Given the description of an element on the screen output the (x, y) to click on. 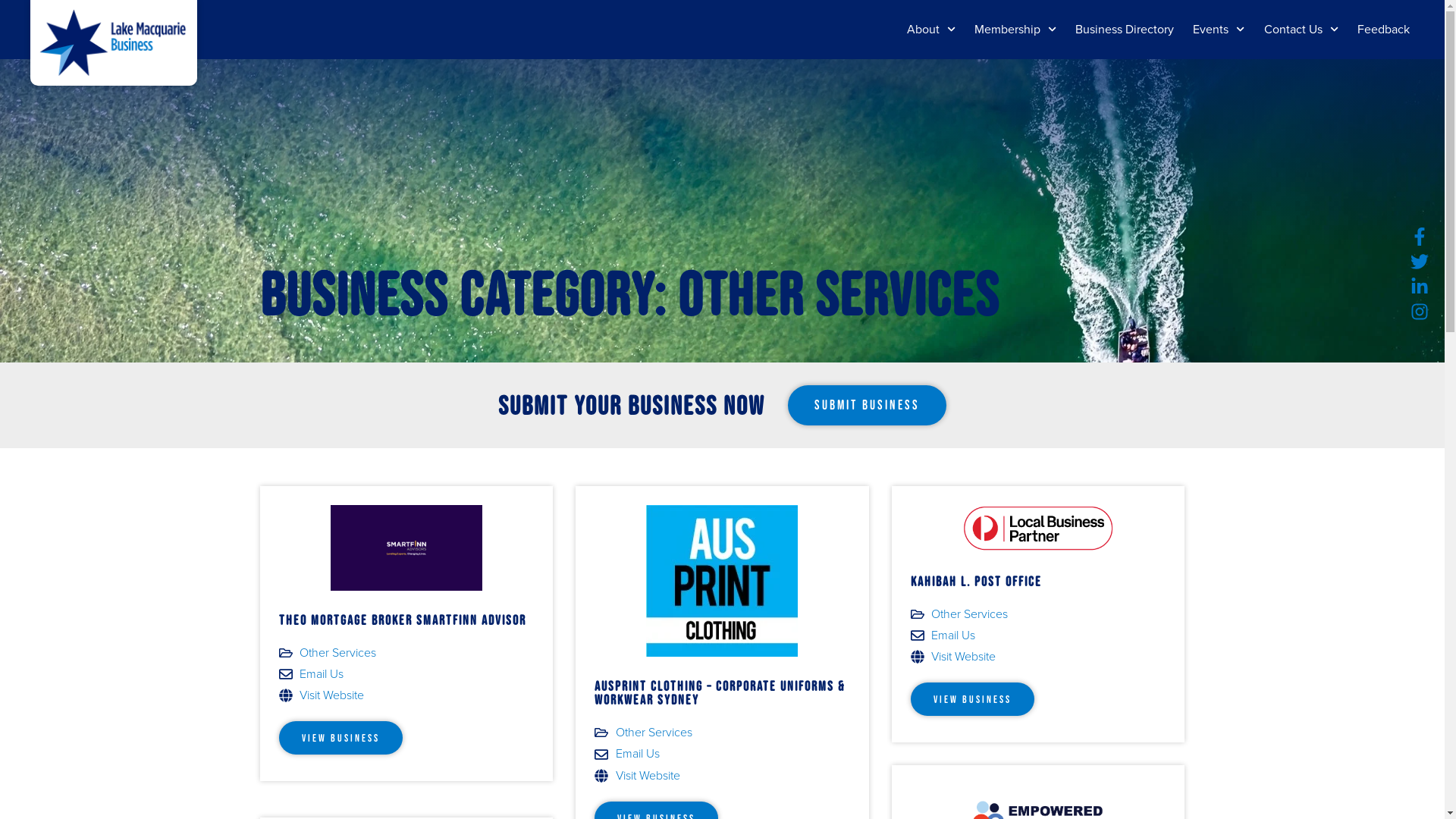
KAHIBAH L. POST OFFICE Element type: text (975, 581)
View Business Element type: text (972, 698)
Events Element type: text (1218, 29)
Other Services Element type: text (969, 613)
Business Directory Element type: text (1124, 29)
View Business Element type: text (340, 737)
Other Services Element type: text (653, 732)
Visit Website Element type: text (406, 695)
Email Us Element type: text (406, 673)
Email Us Element type: text (722, 753)
Membership Element type: text (1015, 29)
Visit Website Element type: text (722, 775)
Email Us Element type: text (1038, 635)
THEO MORTGAGE BROKER SMARTFINN ADVISOR Element type: text (402, 619)
Other Services Element type: text (337, 652)
Submit Business Element type: text (866, 405)
Contact Us Element type: text (1301, 29)
About Element type: text (930, 29)
Feedback Element type: text (1383, 29)
